Given the description of an element on the screen output the (x, y) to click on. 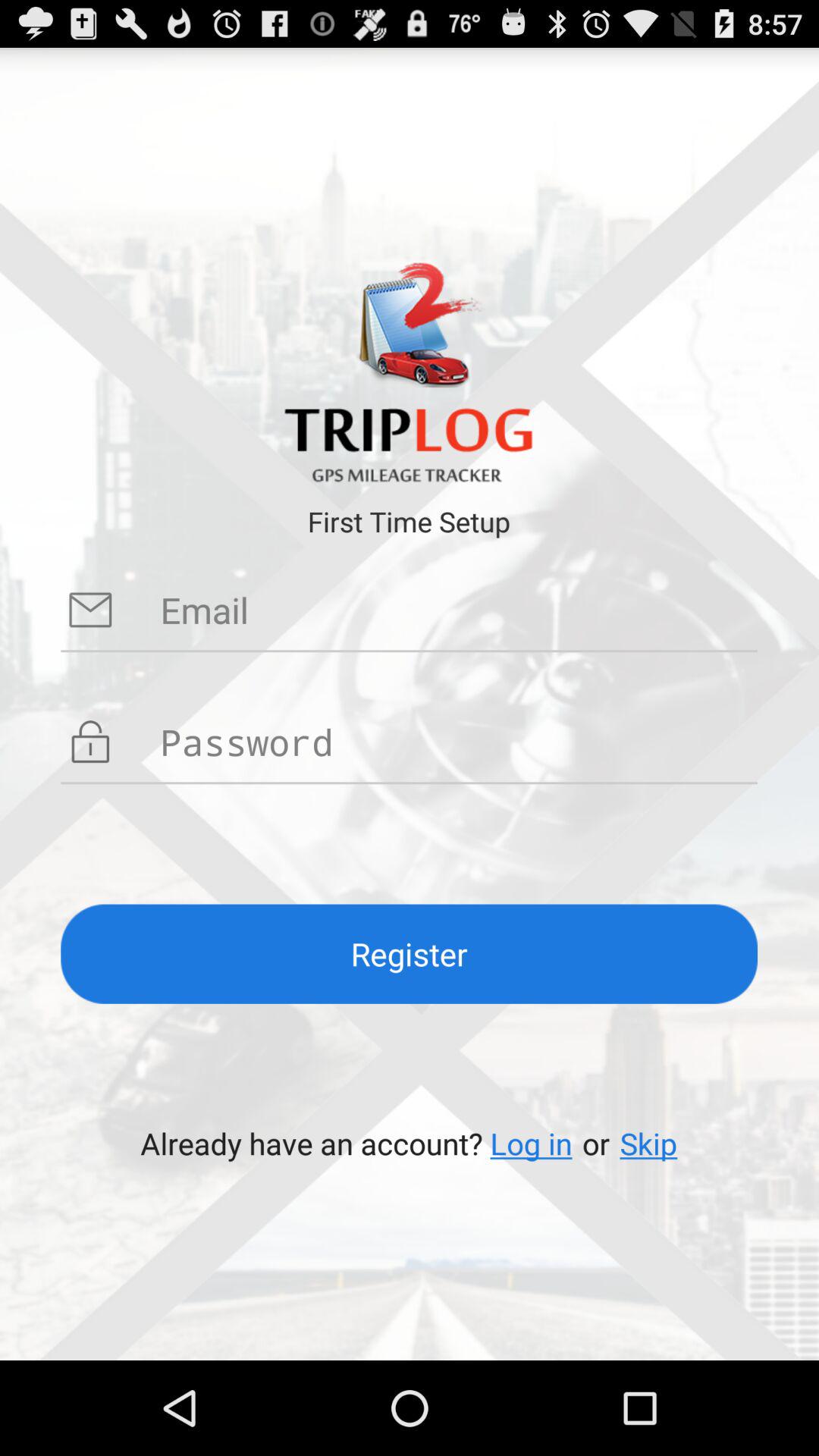
click the icon below register item (531, 1143)
